Given the description of an element on the screen output the (x, y) to click on. 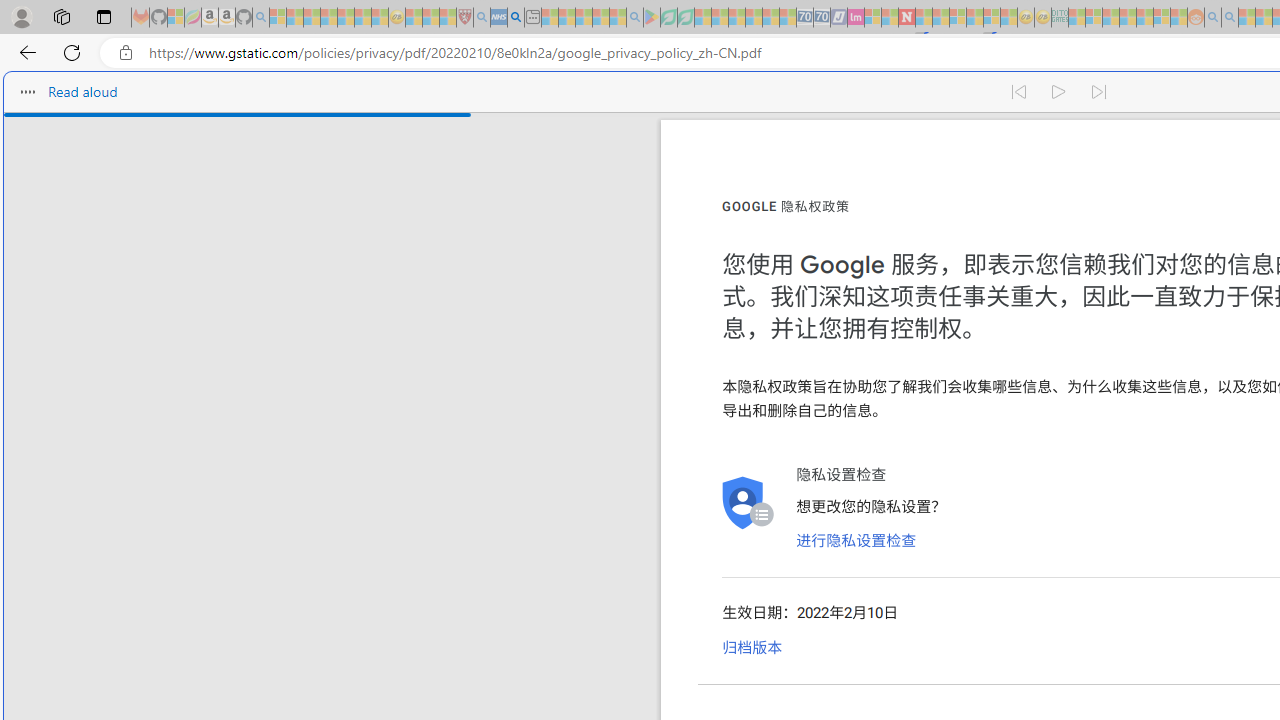
google - Search - Sleeping (634, 17)
